Given the description of an element on the screen output the (x, y) to click on. 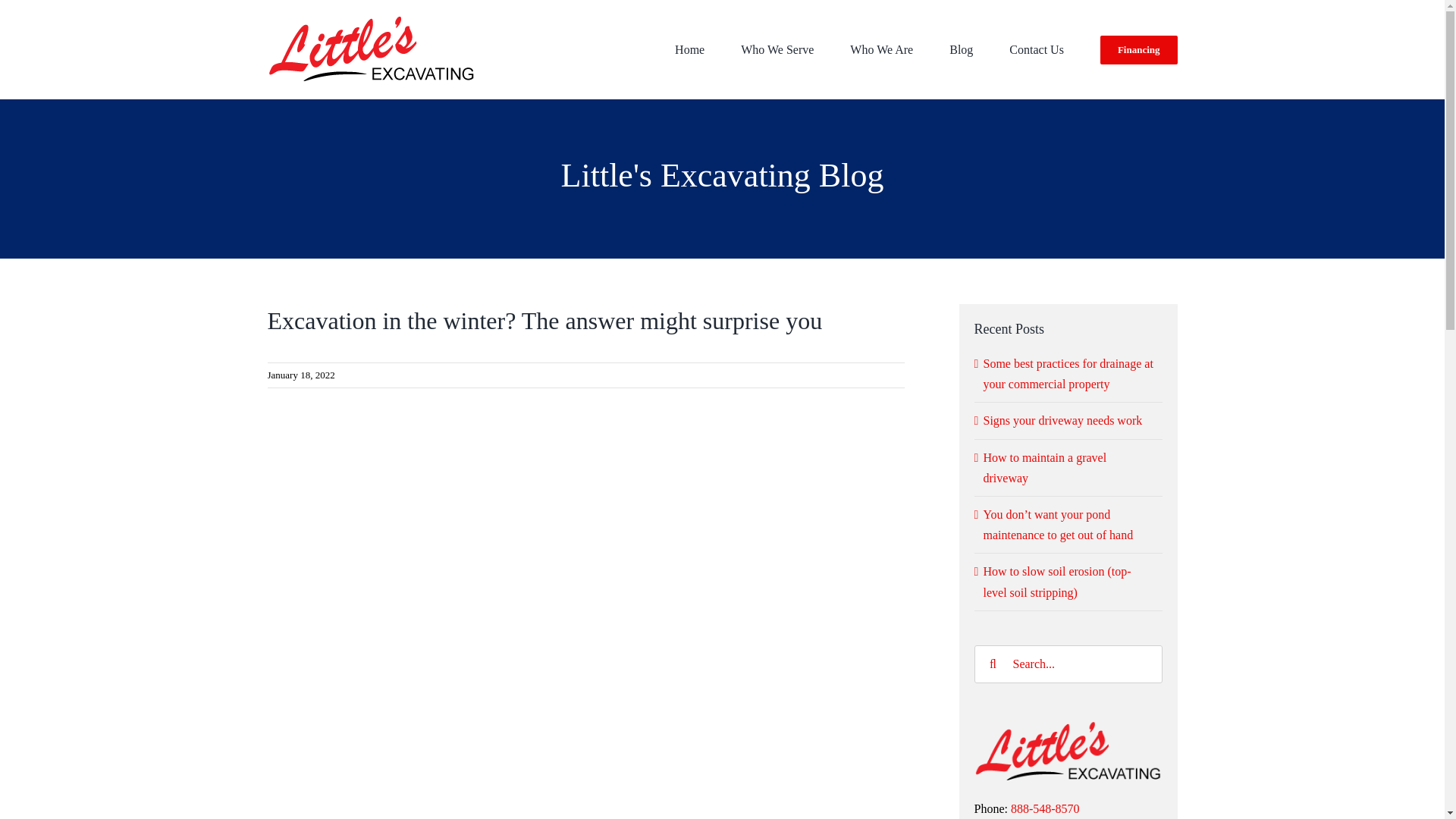
How to maintain a gravel driveway (1044, 467)
888-548-8570 (1045, 808)
Signs your driveway needs work  (1063, 420)
